Given the description of an element on the screen output the (x, y) to click on. 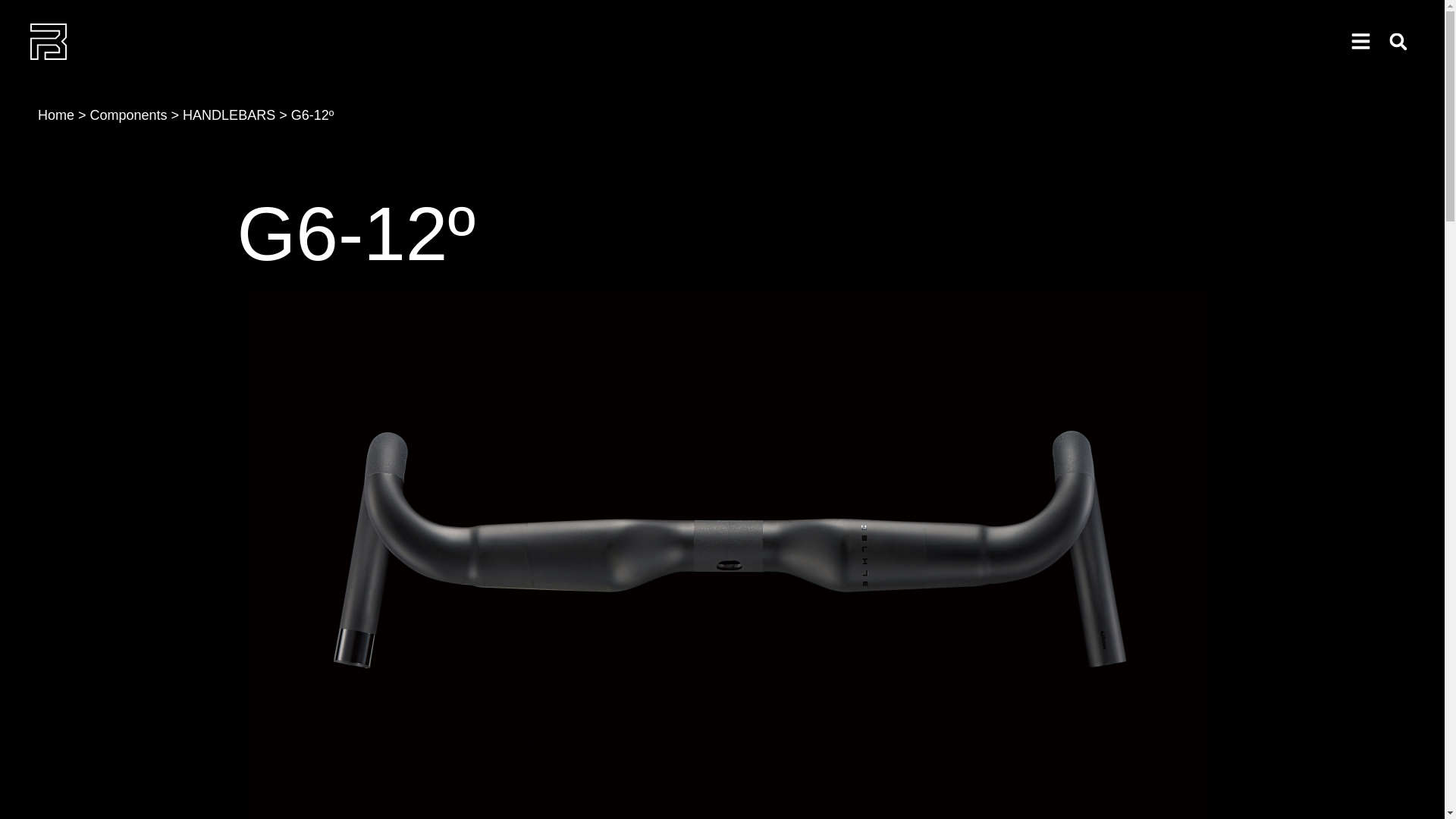
Components (128, 114)
HANDLEBARS (229, 114)
Home (55, 114)
